Given the description of an element on the screen output the (x, y) to click on. 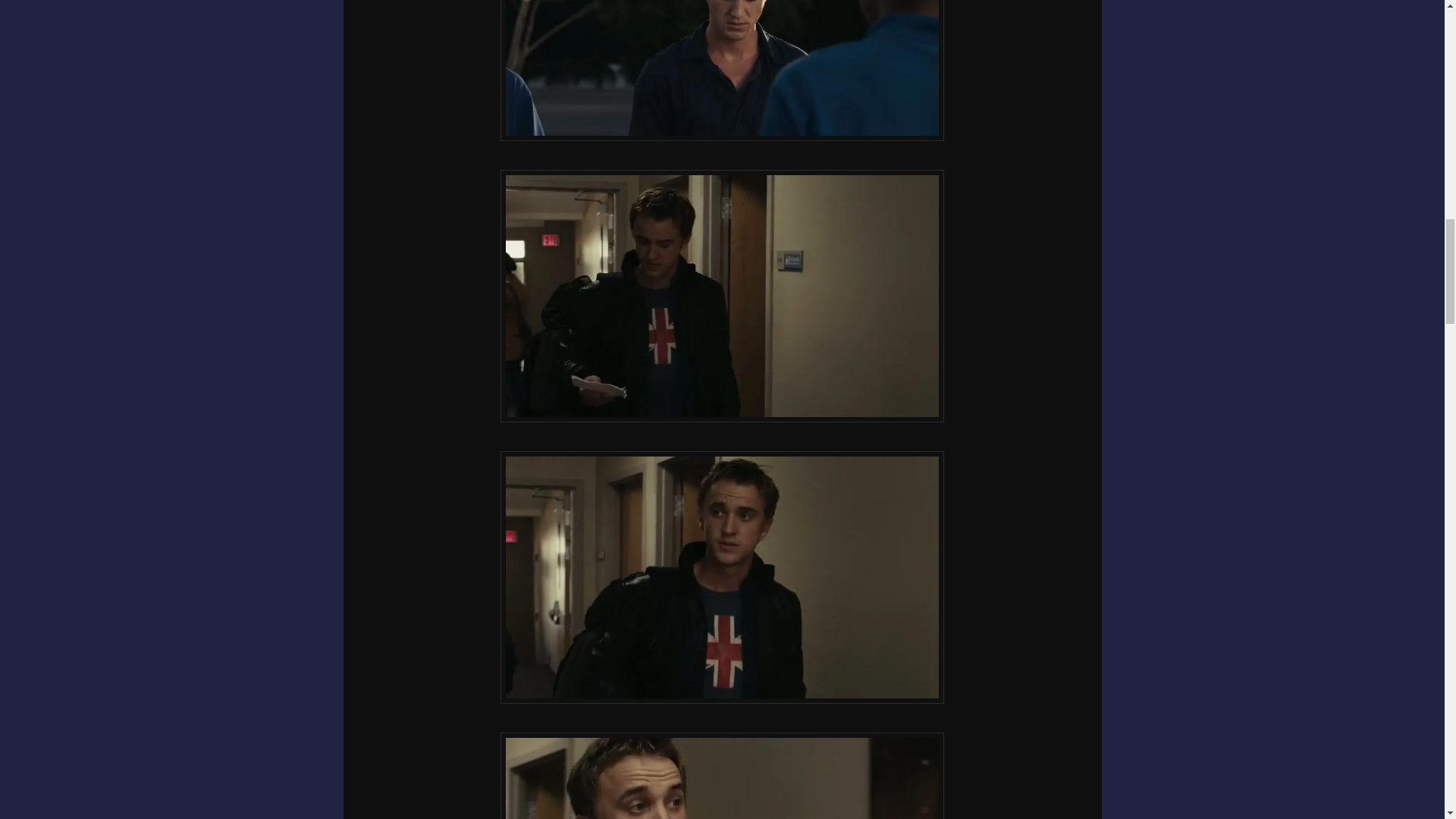
Tom - From the Rough 2 128 (721, 70)
Tom - From the Rough 1 07 (721, 295)
Tom - From the Rough 1 11 (721, 577)
Tom - From the Rough 1 15 (721, 775)
